Given the description of an element on the screen output the (x, y) to click on. 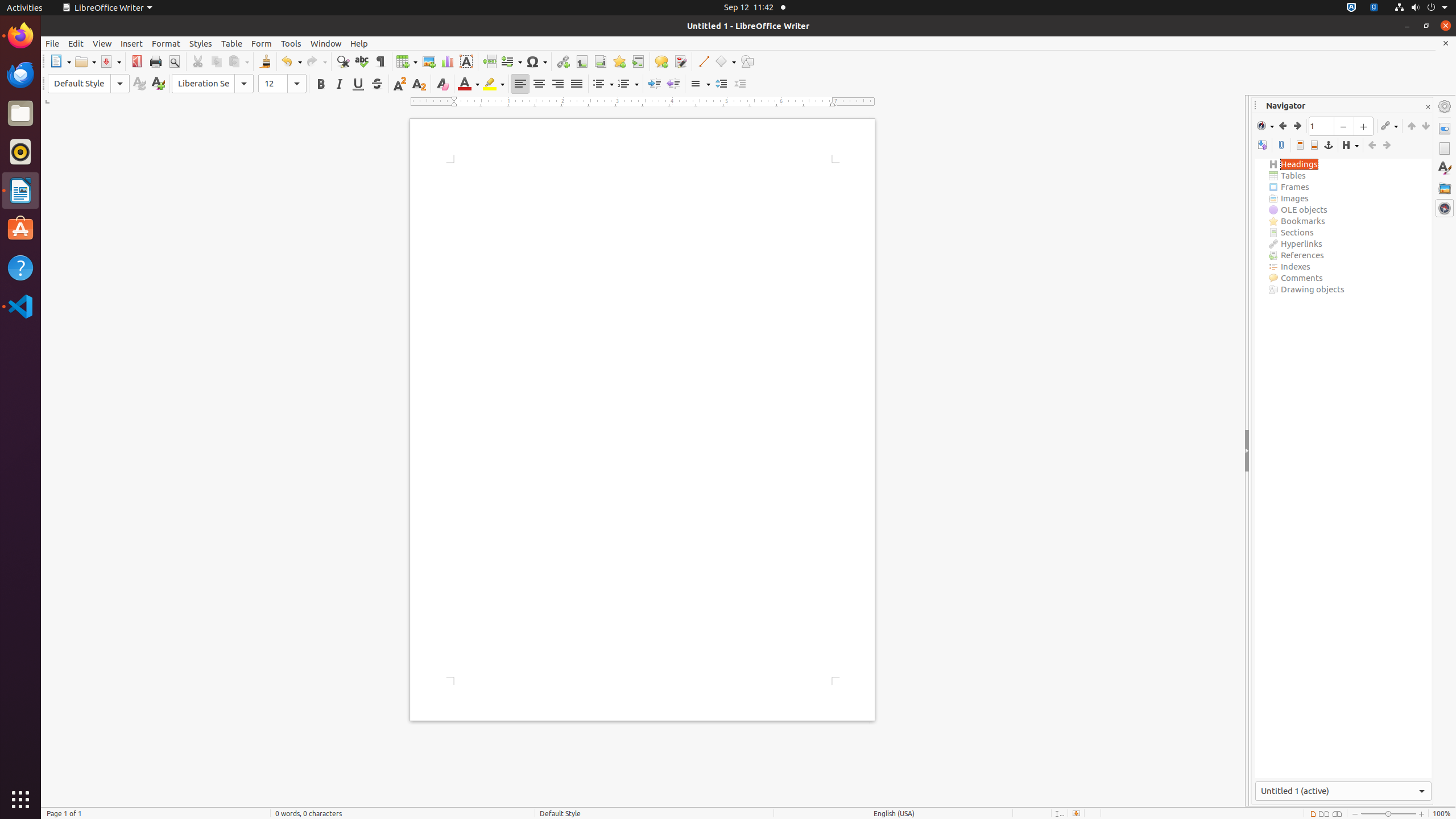
Visual Studio Code Element type: push-button (20, 306)
Endnote Element type: push-button (599, 61)
Comment Element type: push-button (660, 61)
Center Element type: toggle-button (538, 83)
Form Element type: menu (261, 43)
